Given the description of an element on the screen output the (x, y) to click on. 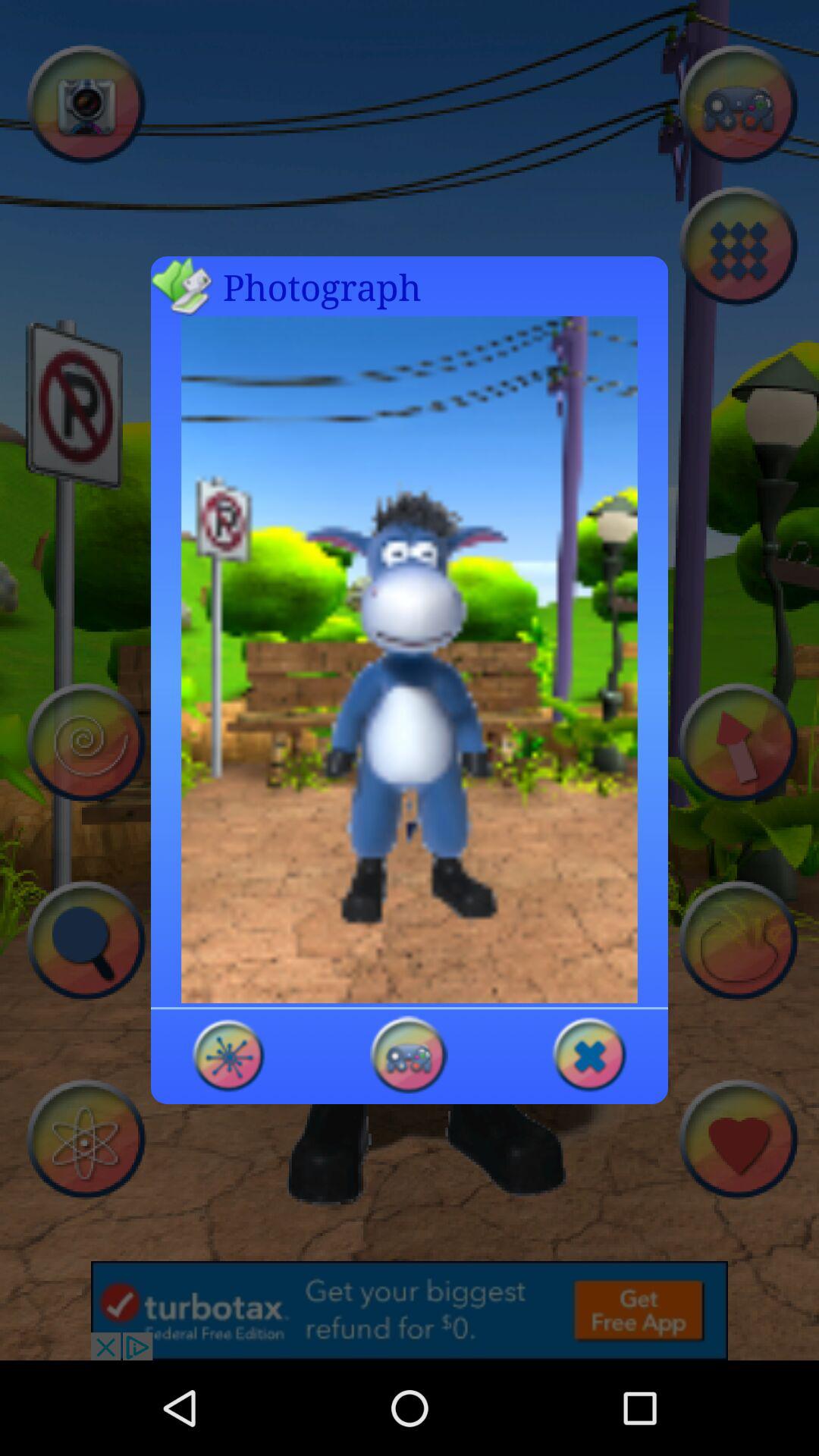
turn on icon at the bottom right corner (589, 1054)
